Given the description of an element on the screen output the (x, y) to click on. 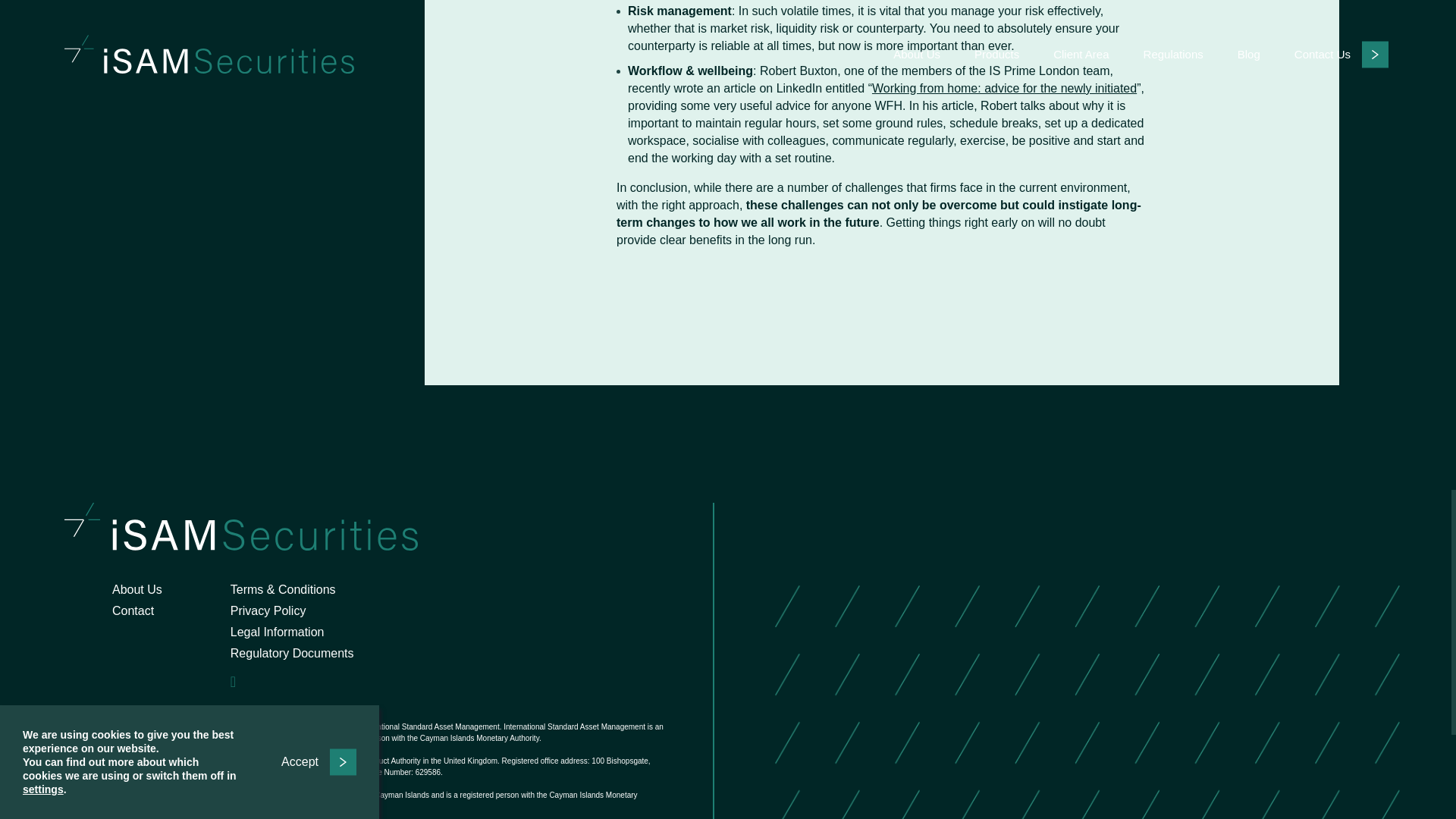
Contact (133, 610)
About Us (136, 589)
Privacy Policy (267, 610)
Regulatory Documents (291, 653)
Working from home: advice for the newly initiated (1004, 88)
Legal Information (277, 631)
